Given the description of an element on the screen output the (x, y) to click on. 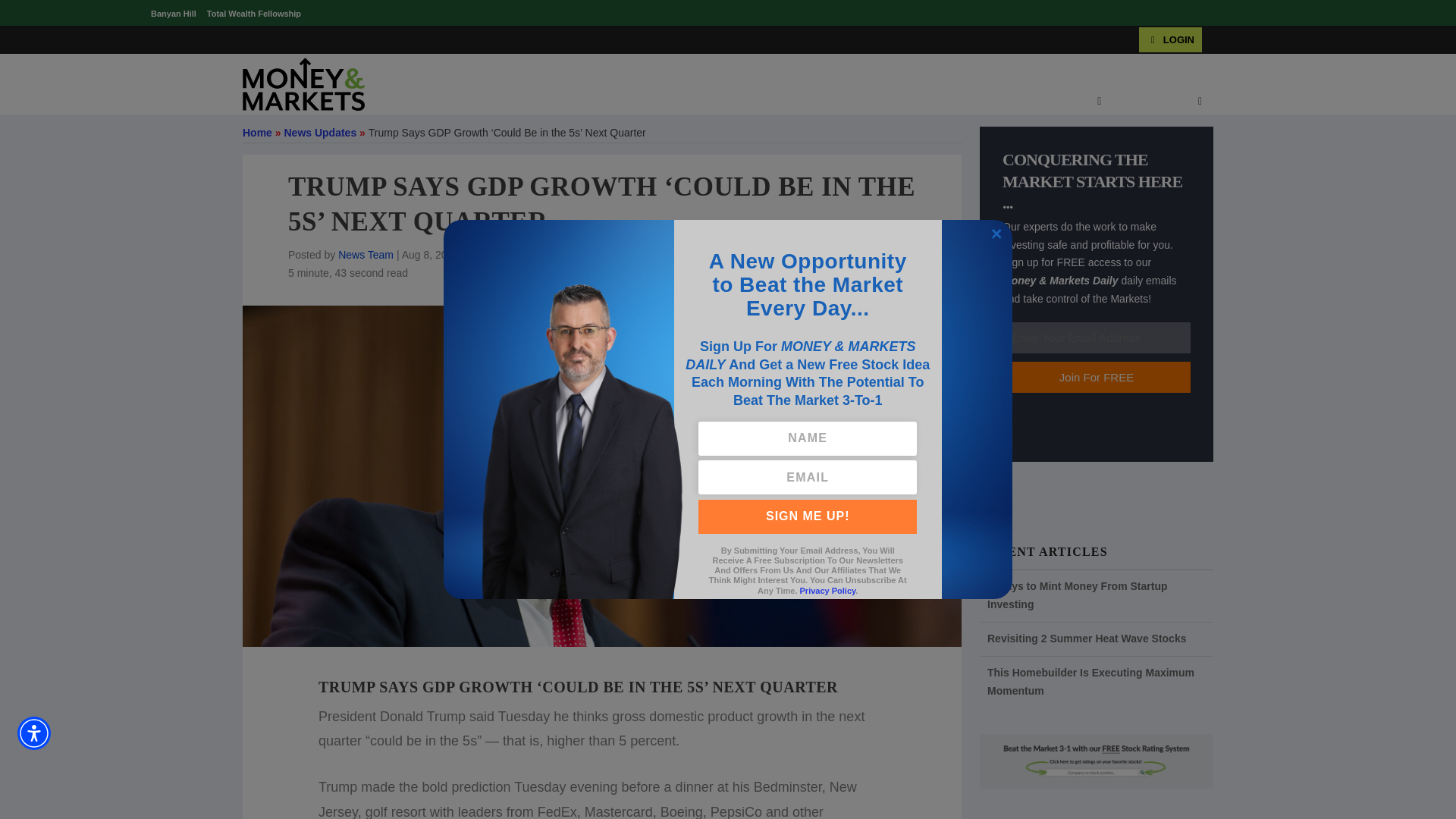
Accessibility Menu (33, 733)
3 Ways to Mint Money From Startup Investing (1077, 594)
STOCK RATINGS (604, 101)
CONTACT (1149, 101)
Posts by News Team (365, 254)
Home (257, 132)
News Team (365, 254)
News (481, 254)
PREMIUM SERVICES (724, 101)
News Updates (319, 132)
RESEARCH (830, 101)
Banyan Hill (173, 13)
EXPERTS (1072, 101)
Total Wealth Fellowship (253, 13)
